Given the description of an element on the screen output the (x, y) to click on. 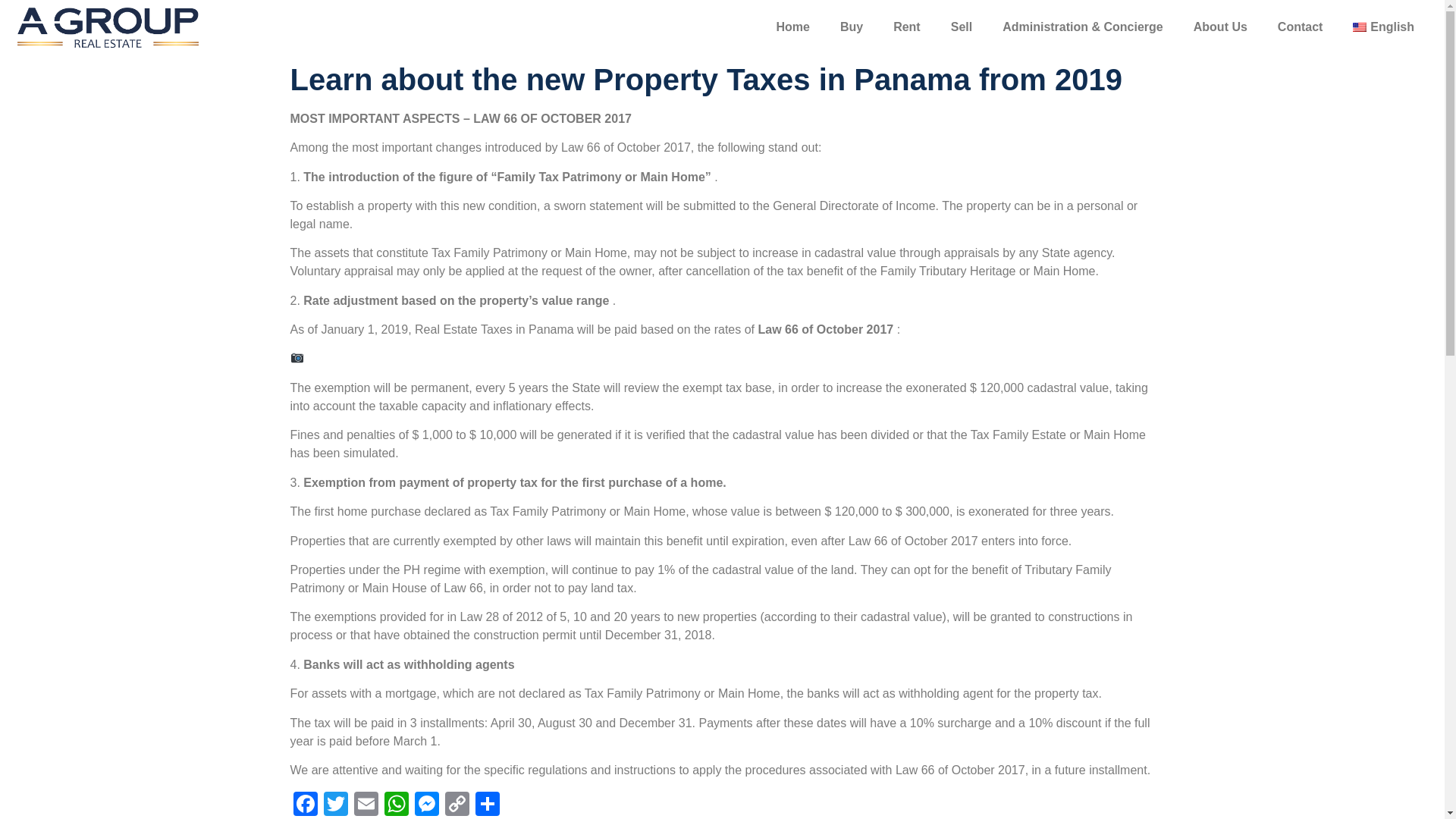
Twitter (335, 805)
Copy Link (456, 805)
WhatsApp (395, 805)
About Us (1219, 27)
Twitter (335, 805)
Copy Link (456, 805)
Facebook (304, 805)
Sell (961, 27)
Contact (1300, 27)
Home (792, 27)
